Given the description of an element on the screen output the (x, y) to click on. 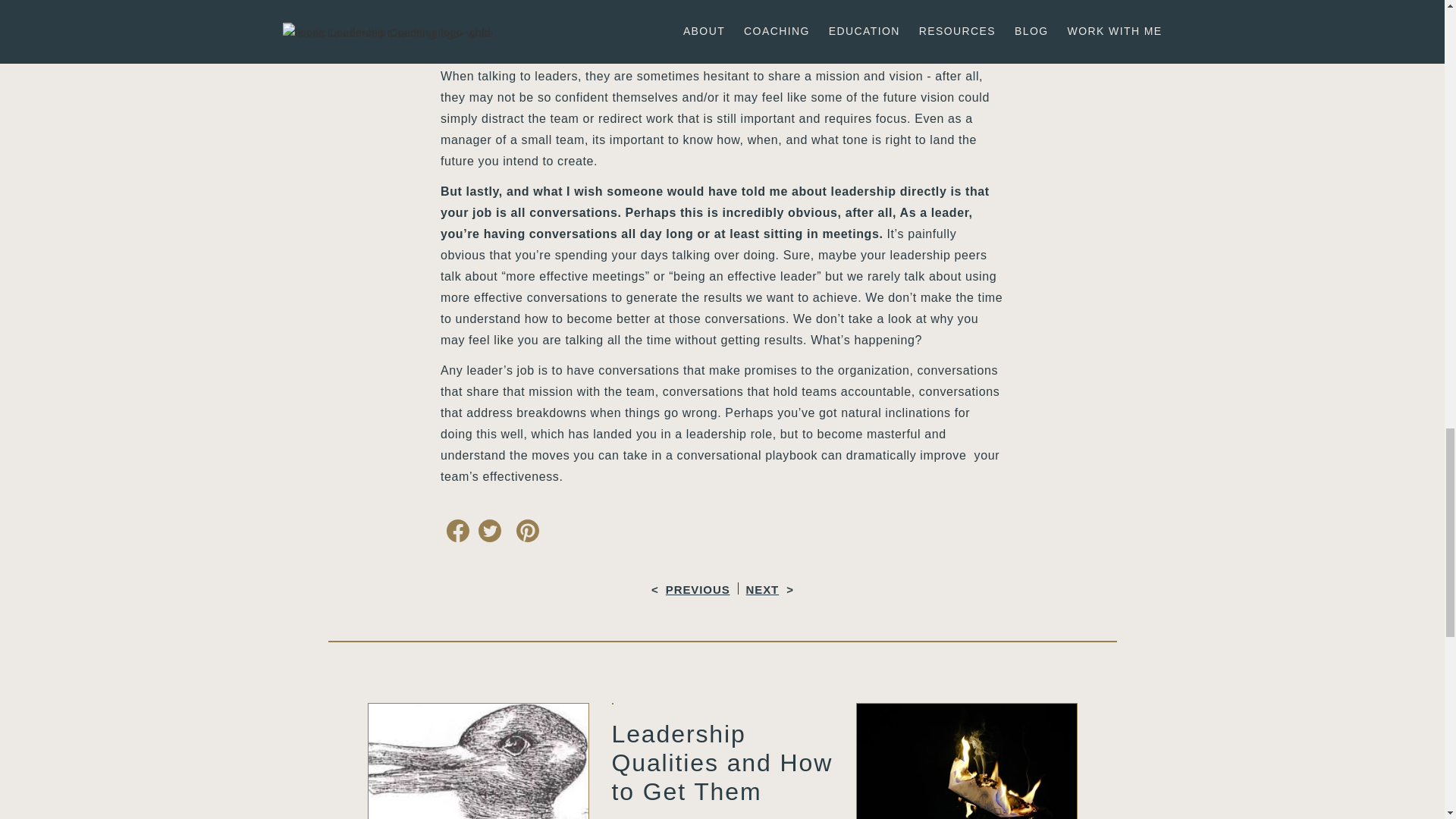
Tweet this (491, 529)
Share on Facebook (458, 529)
Pin It (527, 529)
